Given the description of an element on the screen output the (x, y) to click on. 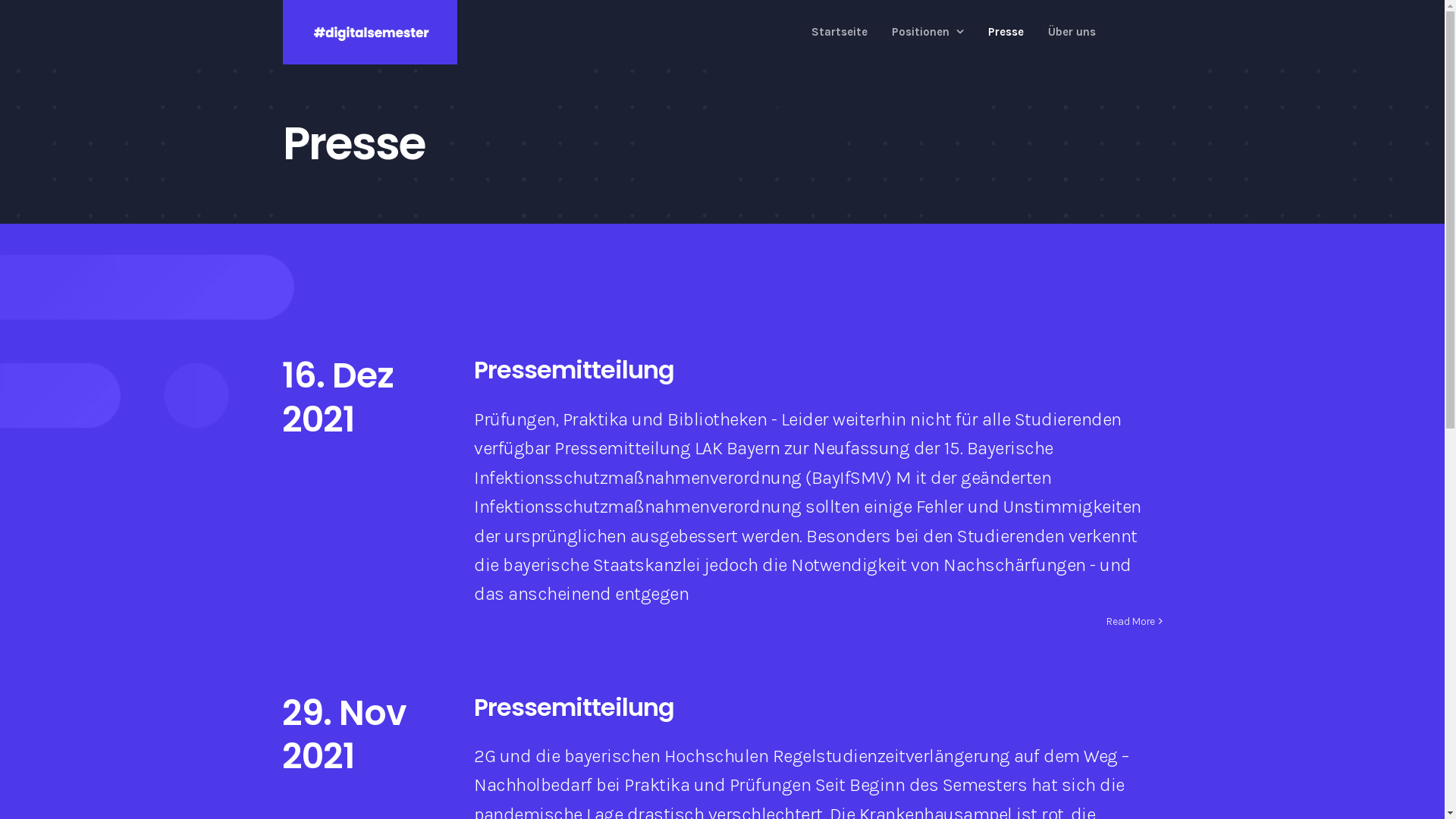
Positionen Element type: text (927, 31)
Pressemitteilung Element type: text (573, 369)
Presse Element type: text (1005, 31)
Pressemitteilung Element type: text (573, 707)
Startseite Element type: text (839, 31)
Read More Element type: text (1130, 621)
